Given the description of an element on the screen output the (x, y) to click on. 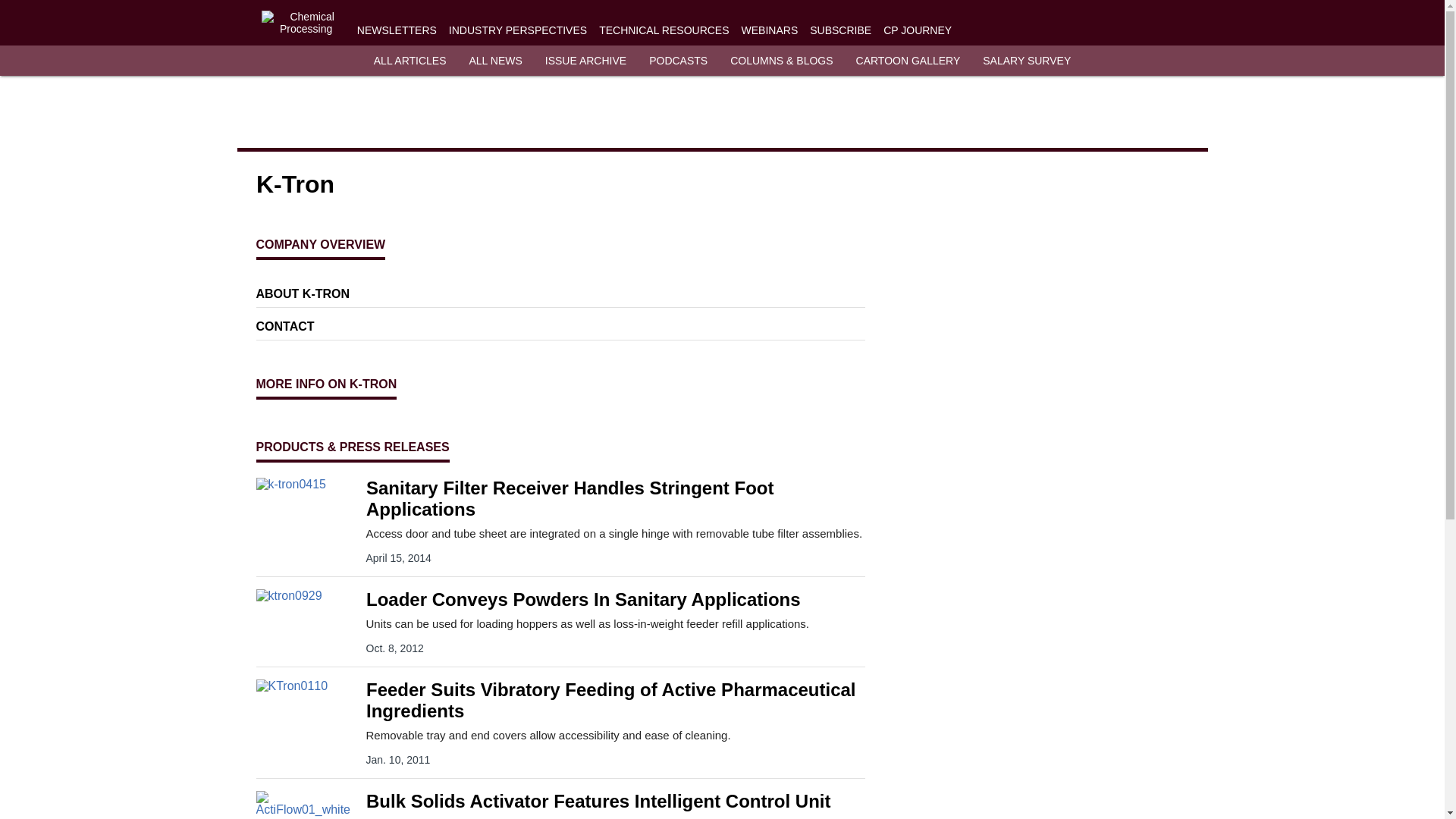
ISSUE ARCHIVE (585, 60)
ALL ARTICLES (410, 60)
Loader Conveys Powders In Sanitary Applications (614, 599)
CARTOON GALLERY (908, 60)
KTron0110 (307, 707)
NEWSLETTERS (396, 30)
ktron0929 (307, 617)
TECHNICAL RESOURCES (663, 30)
INDUSTRY PERSPECTIVES (517, 30)
SALARY SURVEY (1026, 60)
PODCASTS (678, 60)
CP JOURNEY (917, 30)
ALL NEWS (494, 60)
SUBSCRIBE (839, 30)
